Given the description of an element on the screen output the (x, y) to click on. 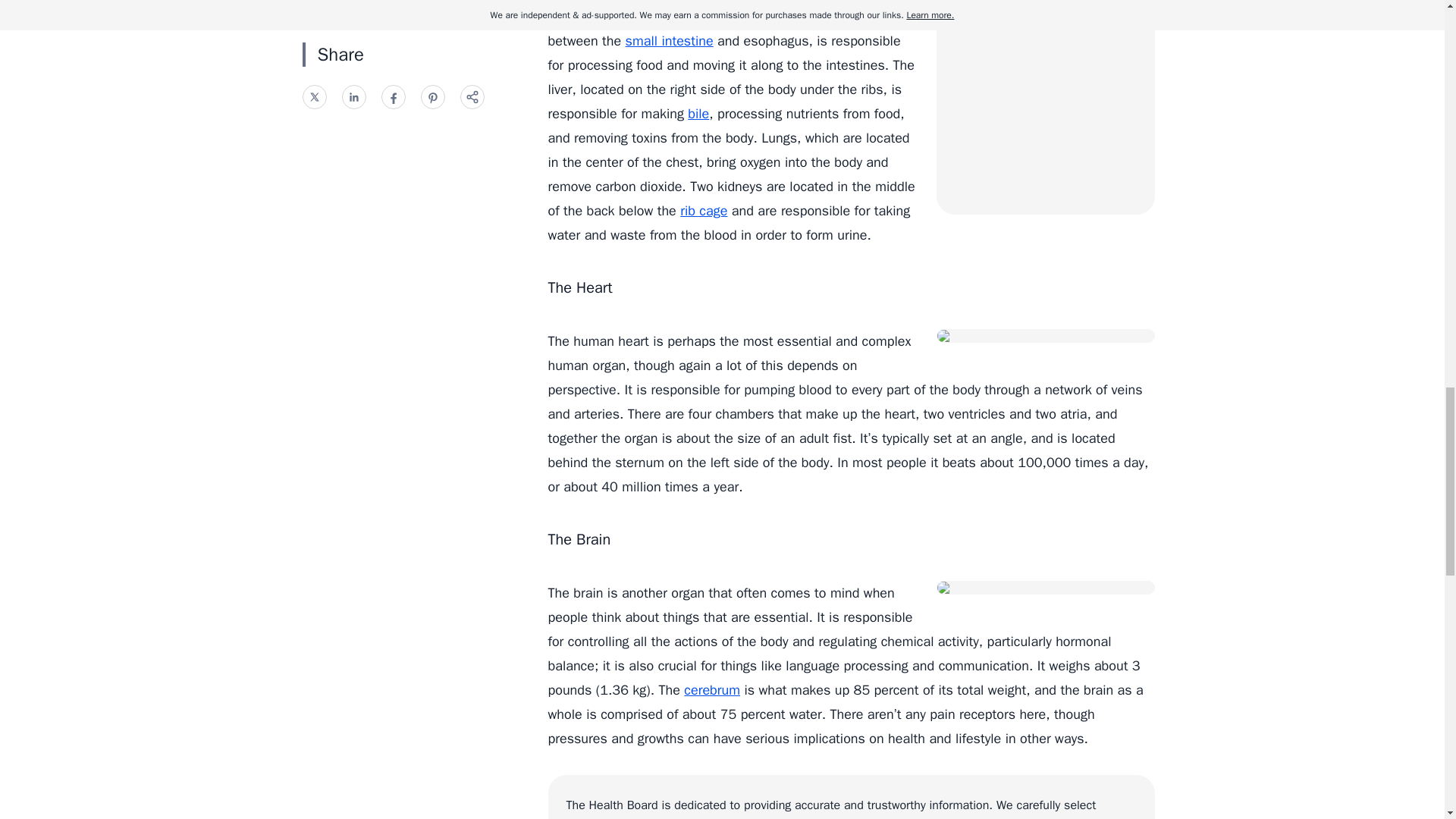
cerebrum (711, 689)
rib cage (702, 210)
bile (698, 113)
small intestine (669, 40)
